Given the description of an element on the screen output the (x, y) to click on. 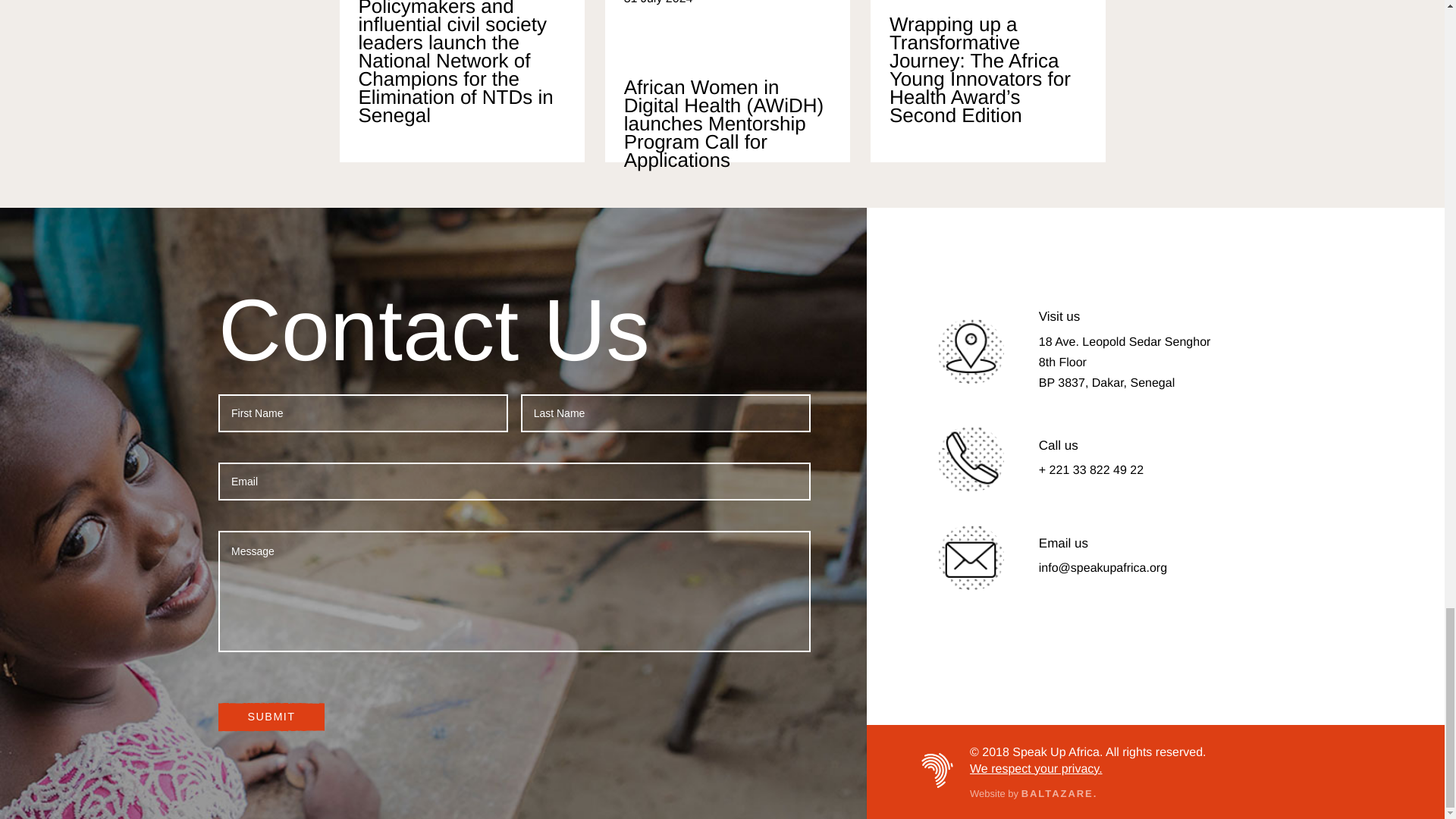
Submit (271, 716)
Submit (271, 716)
BALTAZARE. (1059, 793)
We respect your privacy. (1035, 768)
